Given the description of an element on the screen output the (x, y) to click on. 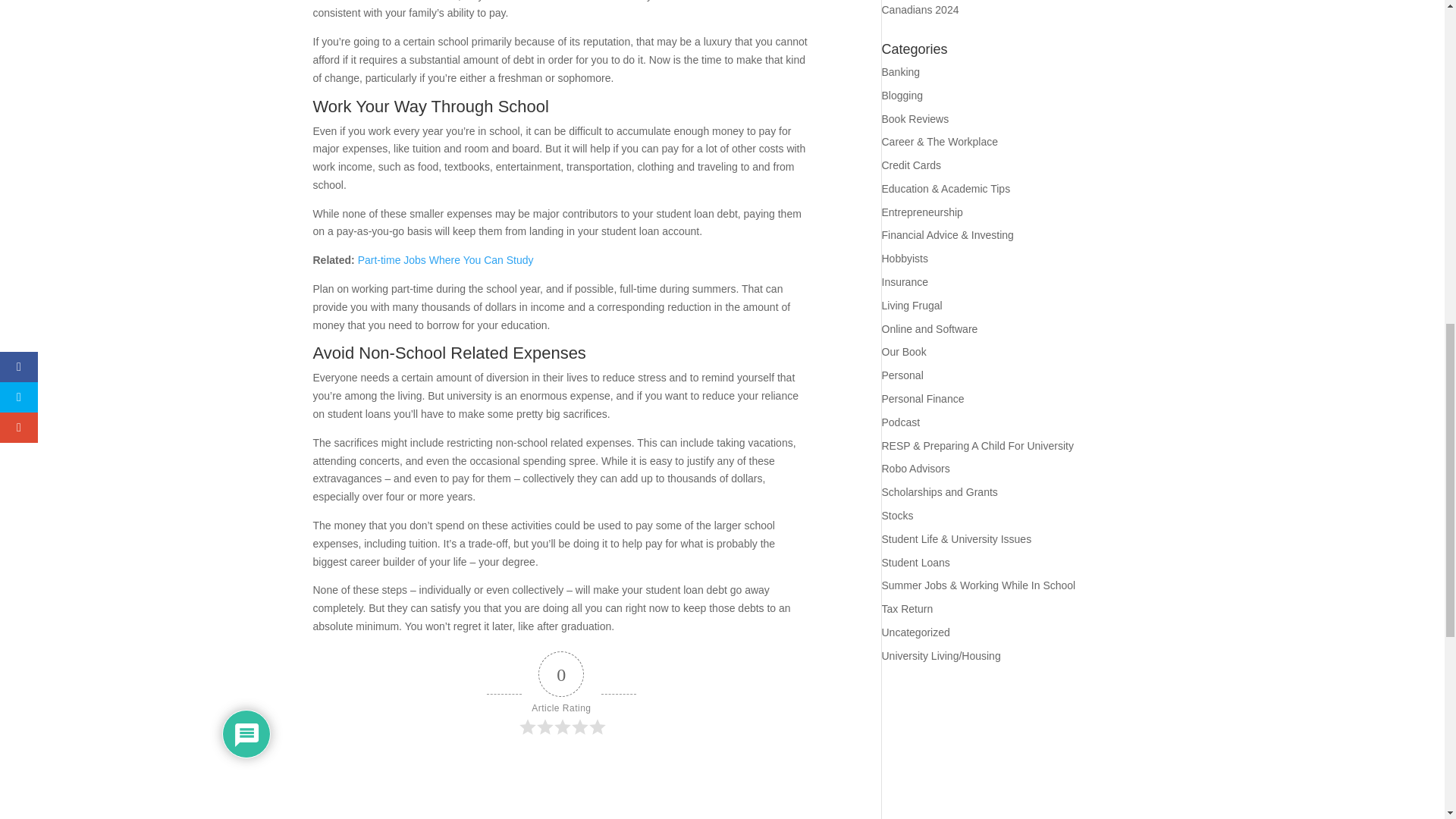
Part-time Jobs Where You Can Study (446, 259)
